Given the description of an element on the screen output the (x, y) to click on. 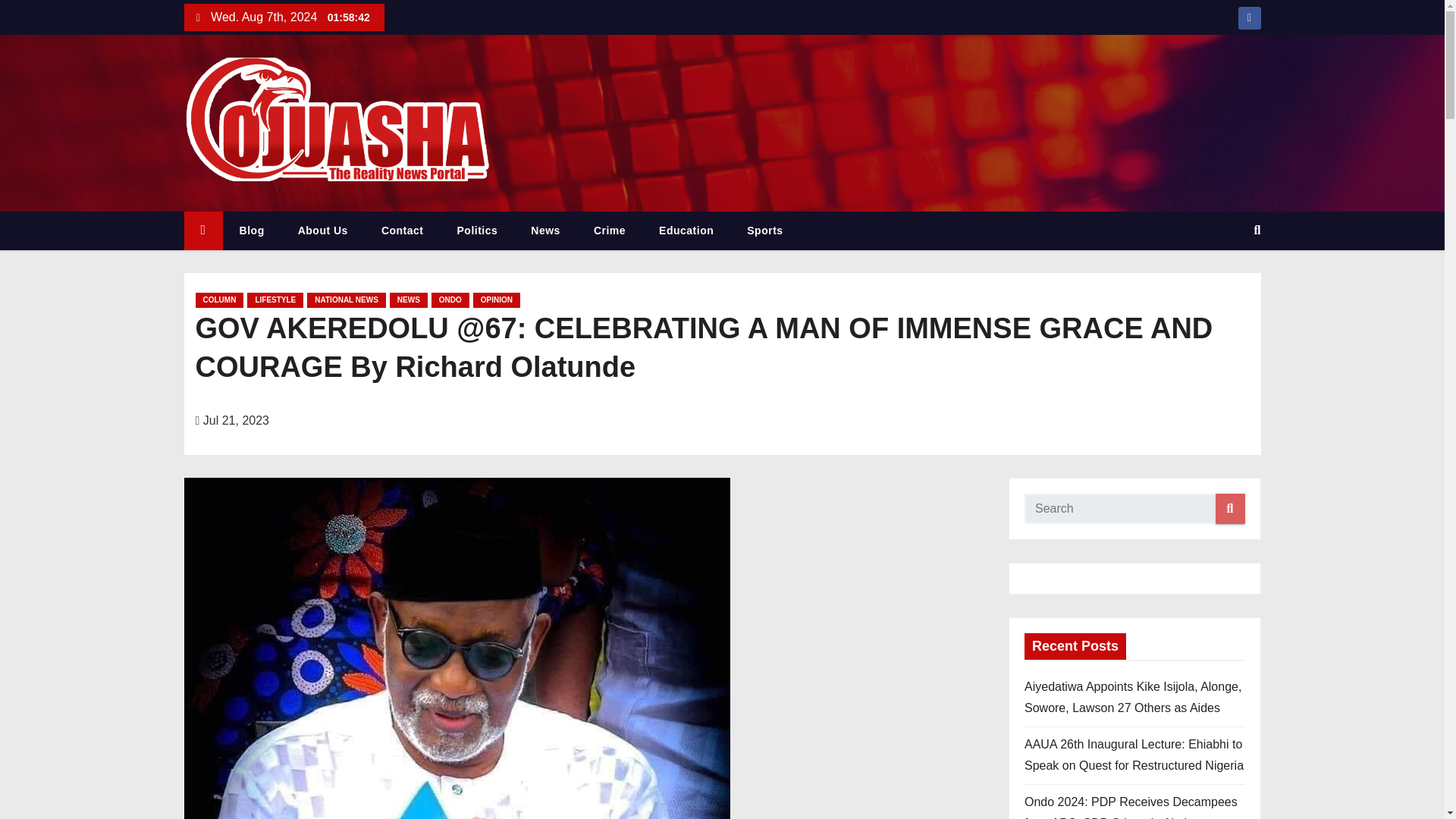
LIFESTYLE (274, 299)
COLUMN (219, 299)
NEWS (409, 299)
Sports (764, 230)
About Us (323, 230)
About Us (323, 230)
Contact (403, 230)
Education (686, 230)
News (544, 230)
Sports (764, 230)
Contact (403, 230)
Politics (478, 230)
Blog (251, 230)
Education (686, 230)
OPINION (496, 299)
